Given the description of an element on the screen output the (x, y) to click on. 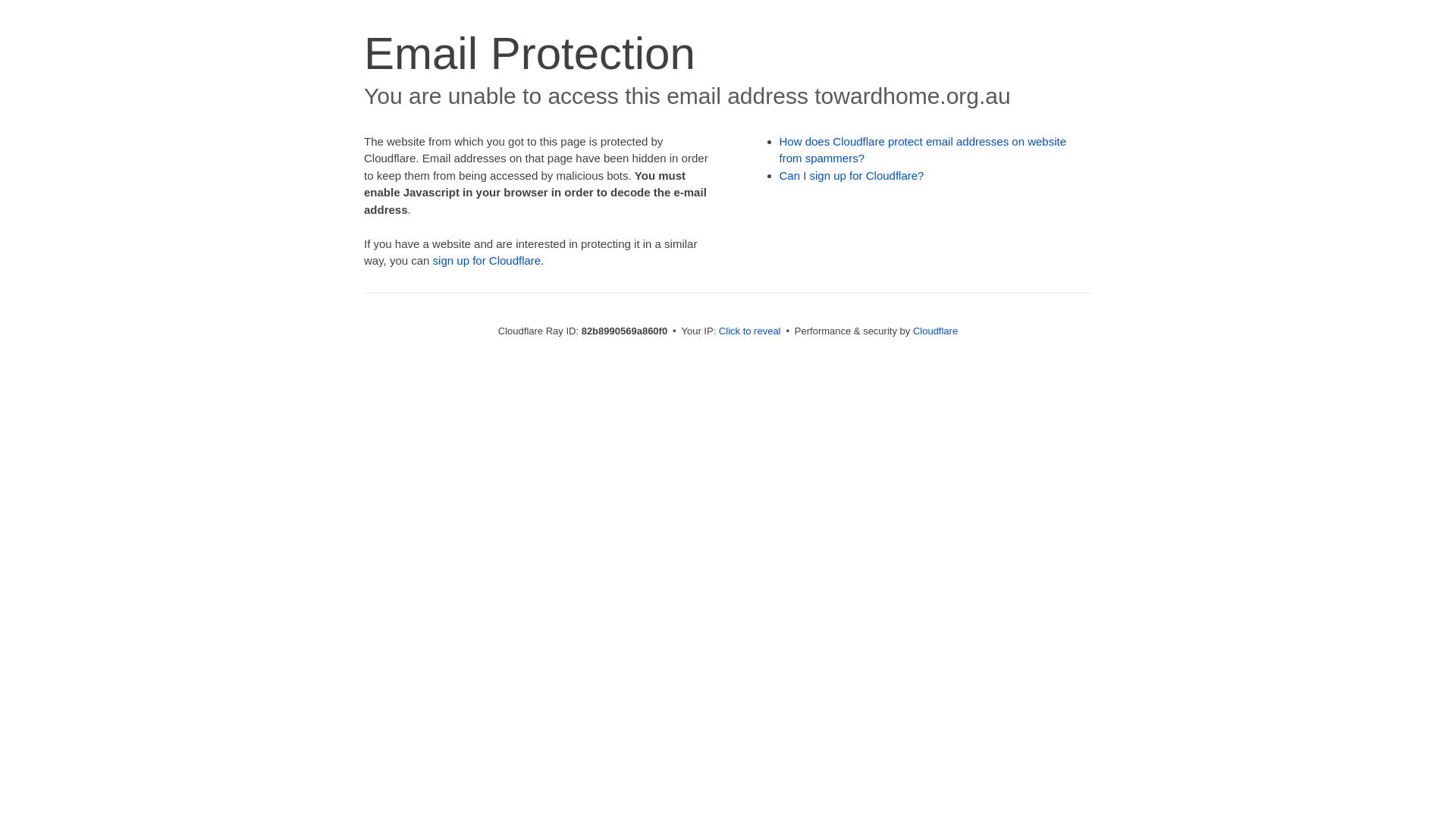
Click to reveal Element type: text (749, 330)
Can I sign up for Cloudflare? Element type: text (851, 175)
Cloudflare Element type: text (935, 330)
sign up for Cloudflare Element type: text (487, 260)
